Given the description of an element on the screen output the (x, y) to click on. 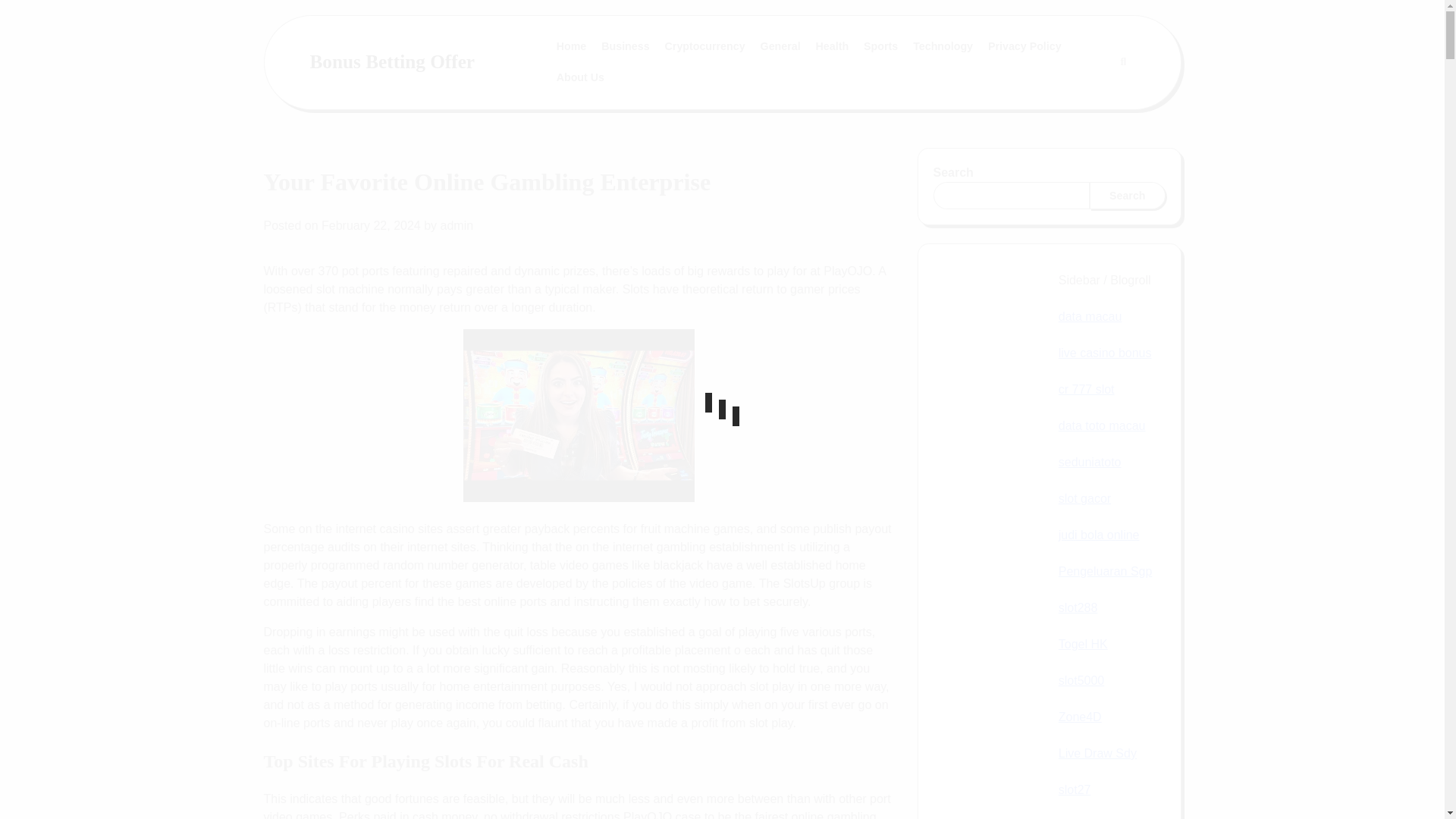
Search (1126, 195)
live casino bonus (1104, 352)
Sports (880, 46)
Bonus Betting Offer (391, 61)
Zone4D (1080, 716)
Togel HK (1083, 644)
Business (625, 46)
Health (832, 46)
data toto macau (1101, 425)
Home (571, 46)
February 22, 2024 (370, 225)
slot5000 (1081, 680)
Privacy Policy (1023, 46)
admin (457, 225)
